Given the description of an element on the screen output the (x, y) to click on. 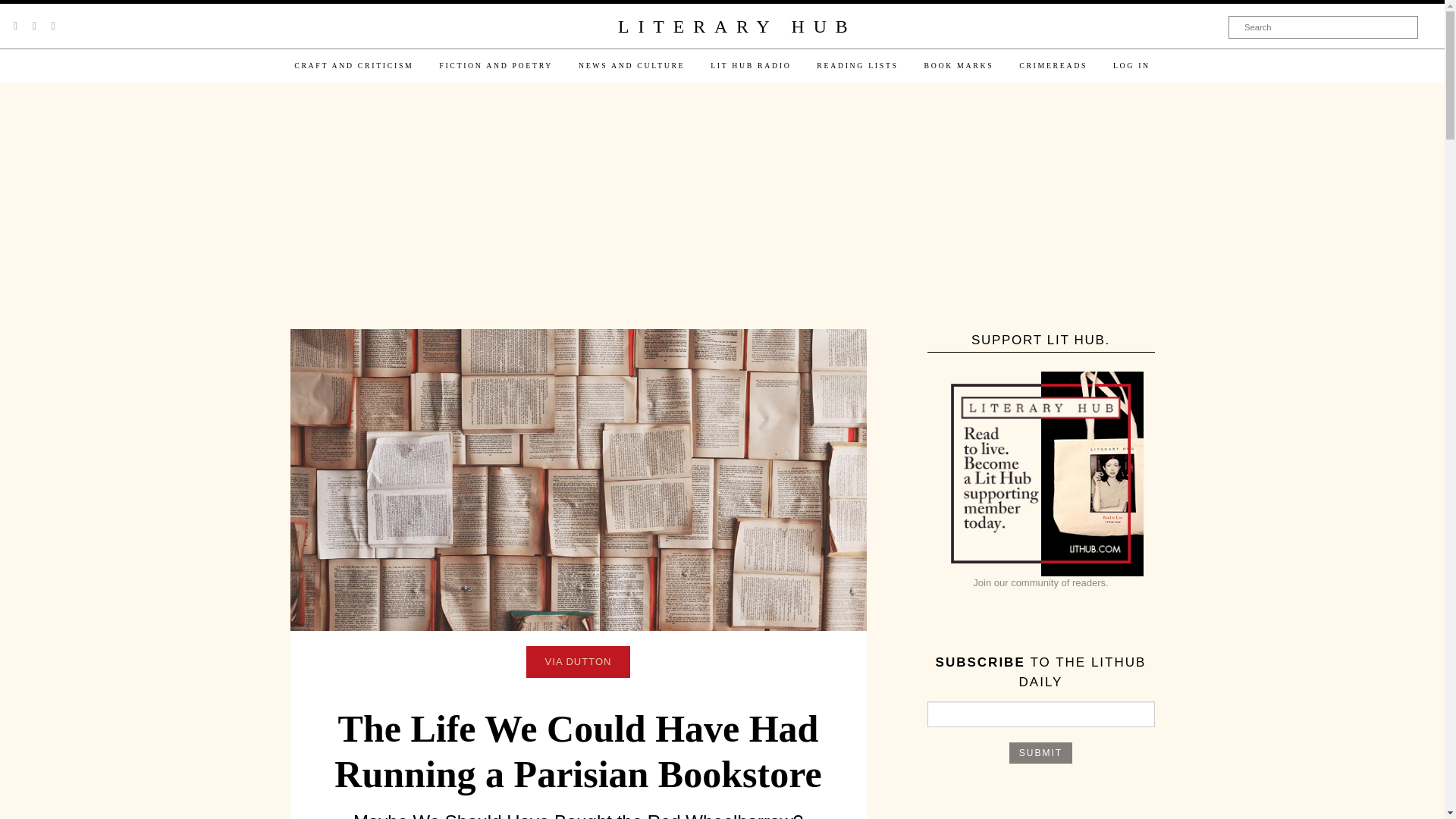
Search (1323, 26)
CRAFT AND CRITICISM (353, 65)
LITERARY HUB (736, 26)
NEWS AND CULTURE (631, 65)
FICTION AND POETRY (496, 65)
